Given the description of an element on the screen output the (x, y) to click on. 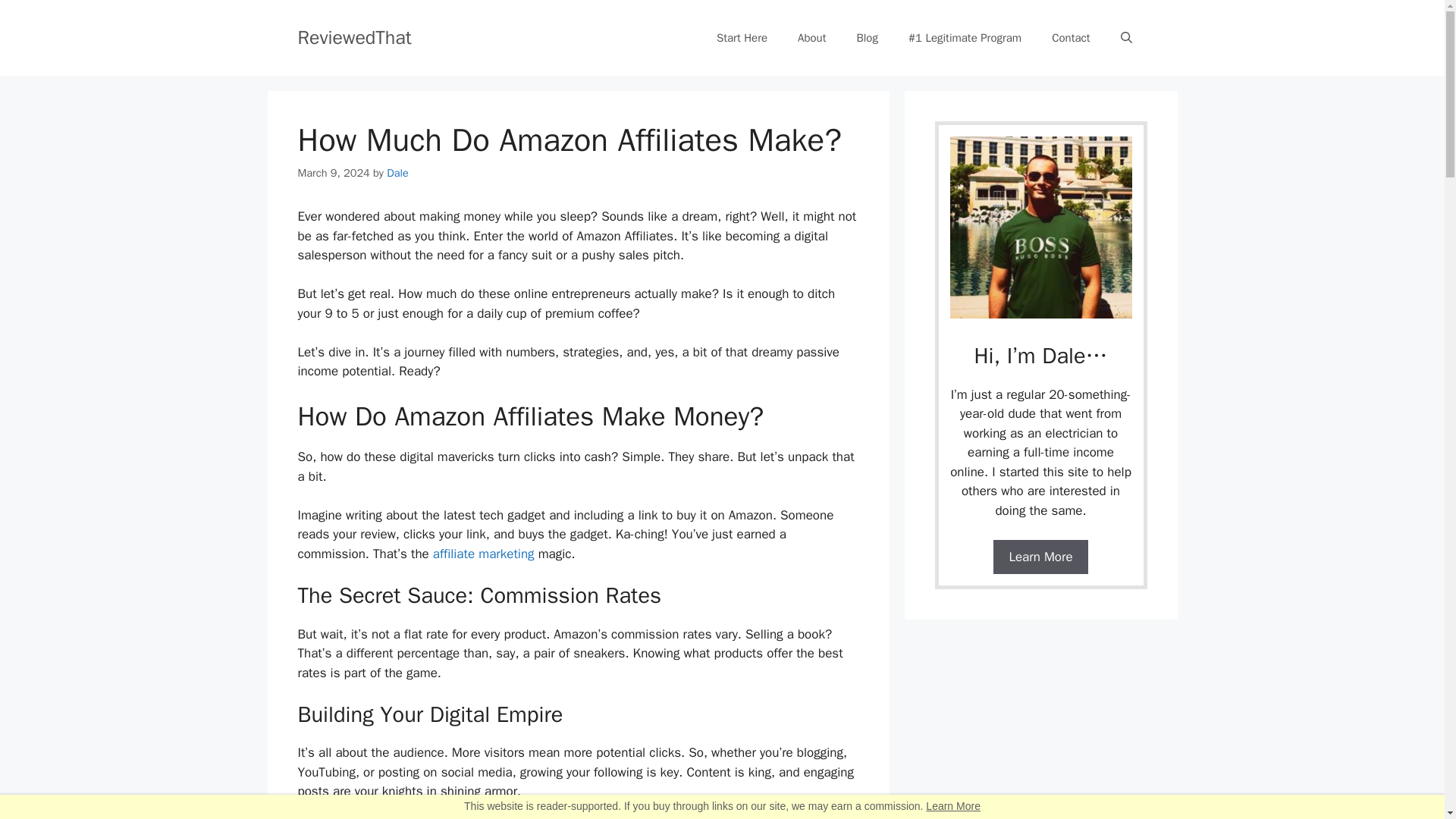
ReviewedThat (353, 37)
Learn More (952, 806)
View all posts by Dale (398, 172)
Contact (1070, 37)
Dale (398, 172)
Start Here (742, 37)
Blog (866, 37)
Learn More (1039, 556)
affiliate marketing (483, 553)
About (812, 37)
